Given the description of an element on the screen output the (x, y) to click on. 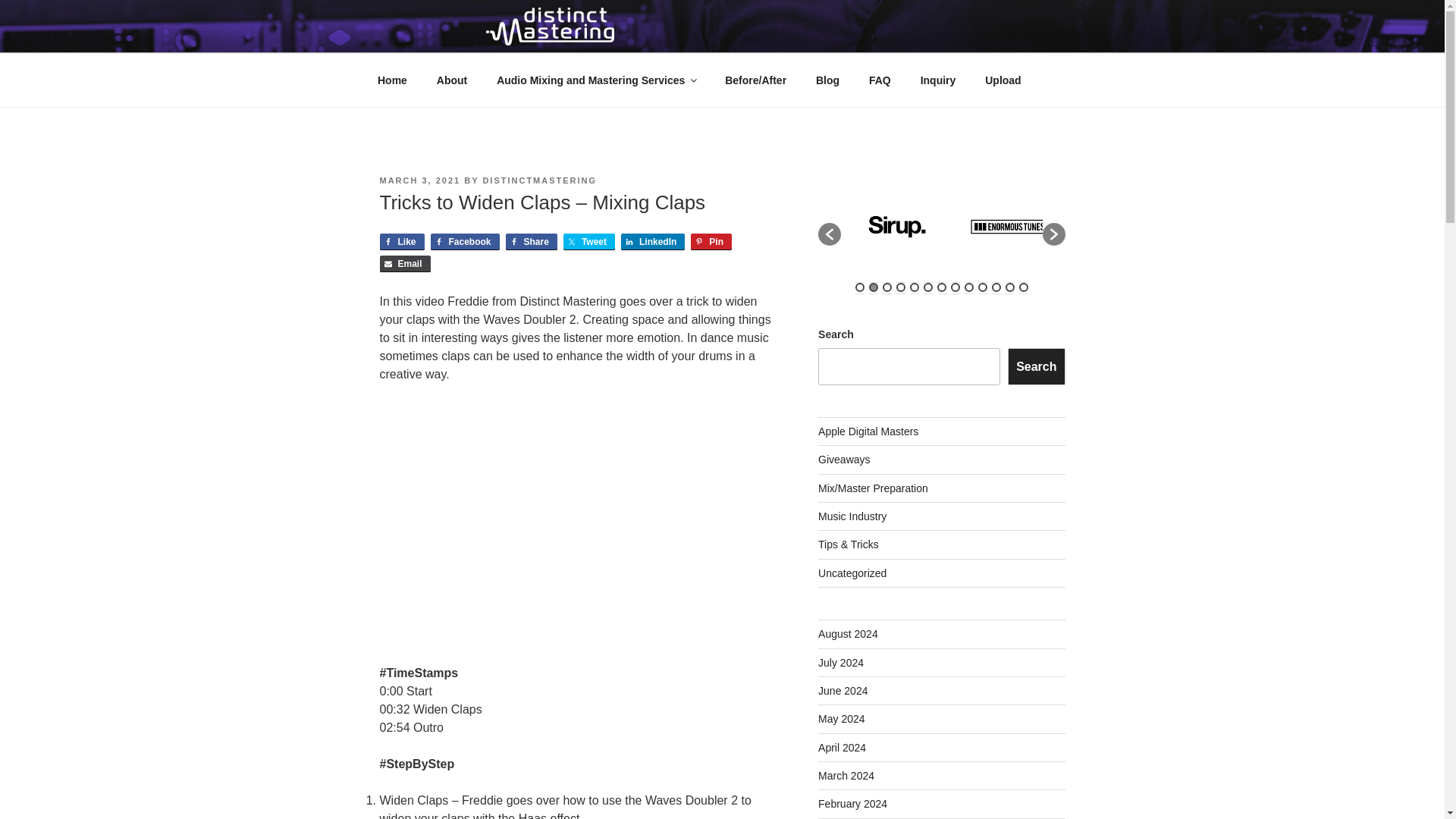
Share (531, 241)
FAQ (880, 80)
Blog (826, 80)
Facebook (464, 241)
LinkedIn (652, 241)
Inquiry (938, 80)
Like (400, 241)
YouTube video player (577, 521)
MARCH 3, 2021 (419, 180)
Share on LinkedIn (652, 241)
